Given the description of an element on the screen output the (x, y) to click on. 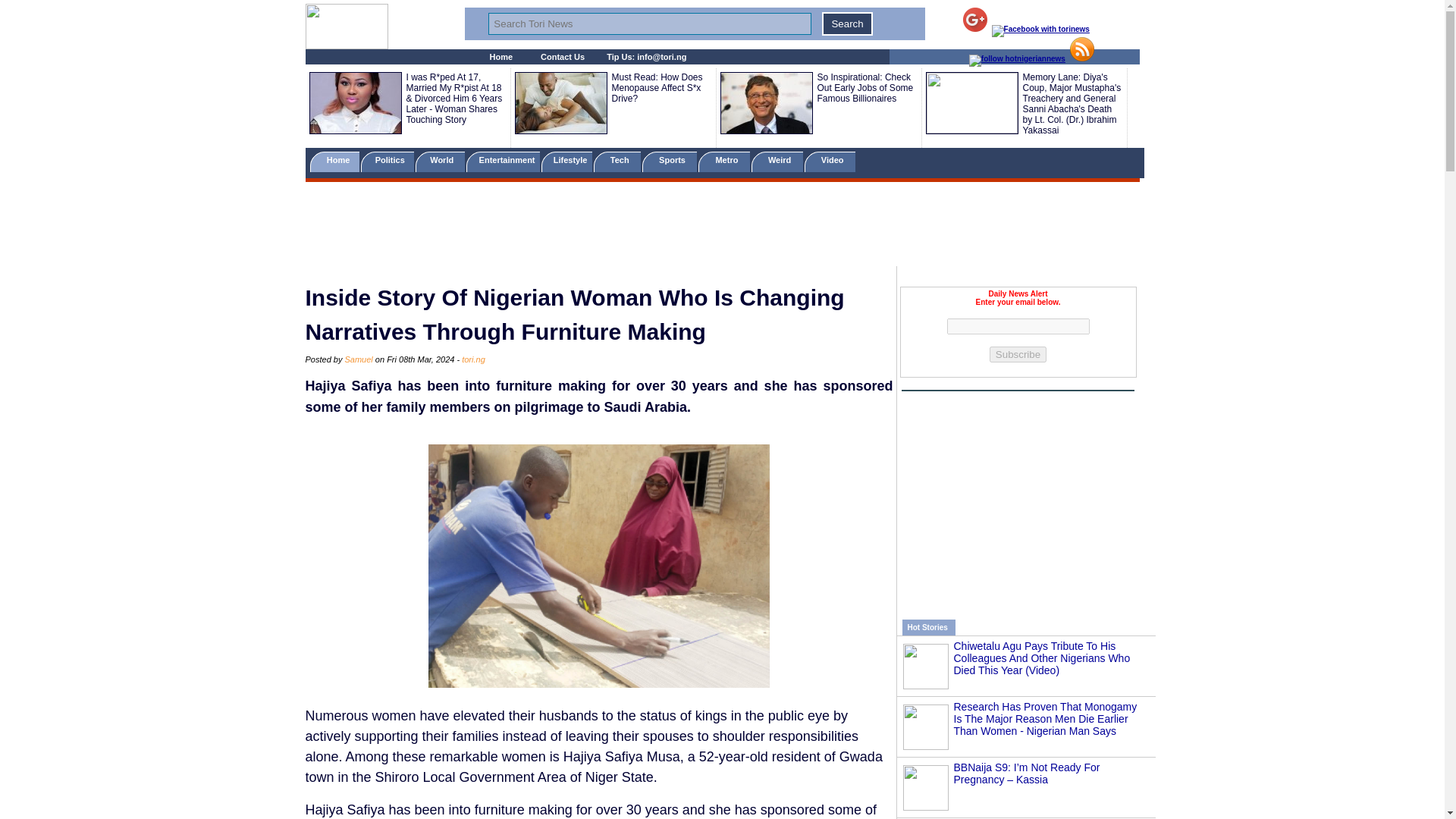
Subscribe (1018, 354)
   Politics     (387, 161)
    Metro      (723, 161)
    Weird      (777, 161)
    Sports      (669, 161)
Search (847, 24)
  Entertainment   (501, 161)
  Lifestyle   (566, 161)
